Given the description of an element on the screen output the (x, y) to click on. 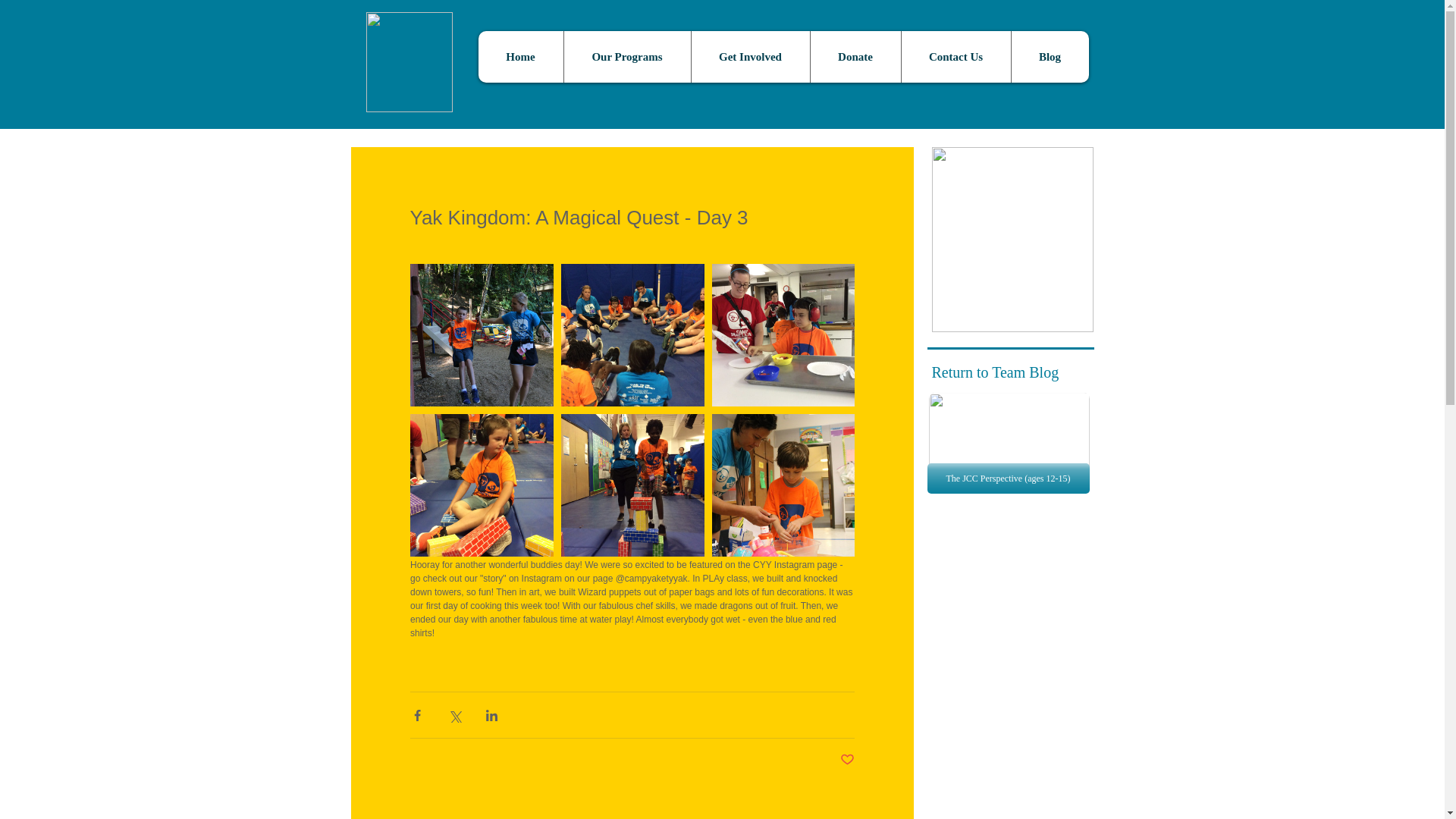
Home (519, 56)
Get Involved (749, 56)
Contact Us (955, 56)
Our Programs (626, 56)
Post not marked as liked (847, 760)
Donate (855, 56)
